Given the description of an element on the screen output the (x, y) to click on. 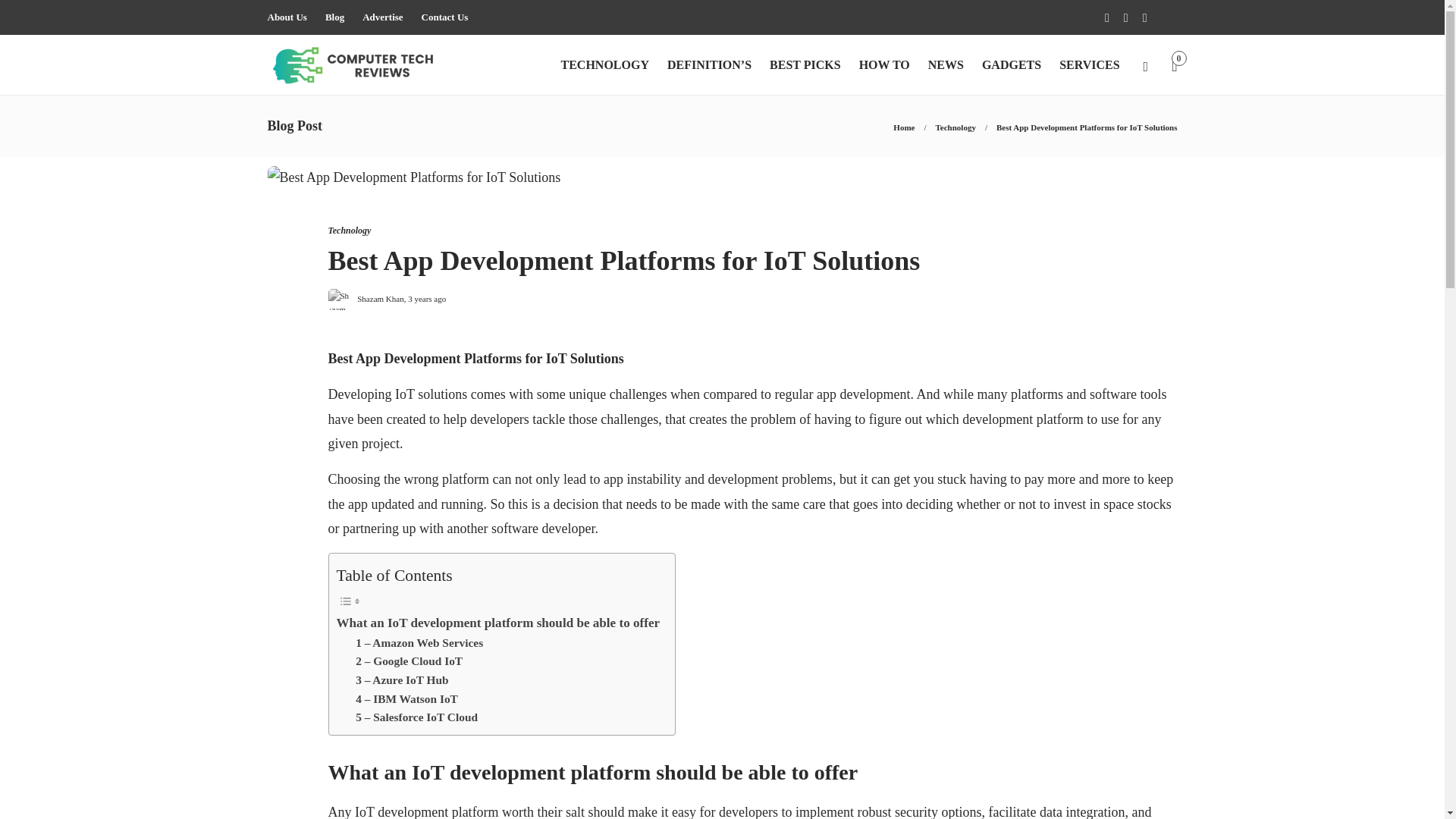
Home (903, 126)
Technology (955, 126)
Best App Development Platforms for IoT Solutions (740, 264)
TECHNOLOGY (603, 65)
What an IoT development platform should be able to offer (498, 622)
Shazam Khan (379, 297)
What an IoT development platform should be able to offer (498, 622)
Advertise (382, 17)
Technology (349, 230)
Contact Us (445, 17)
